Given the description of an element on the screen output the (x, y) to click on. 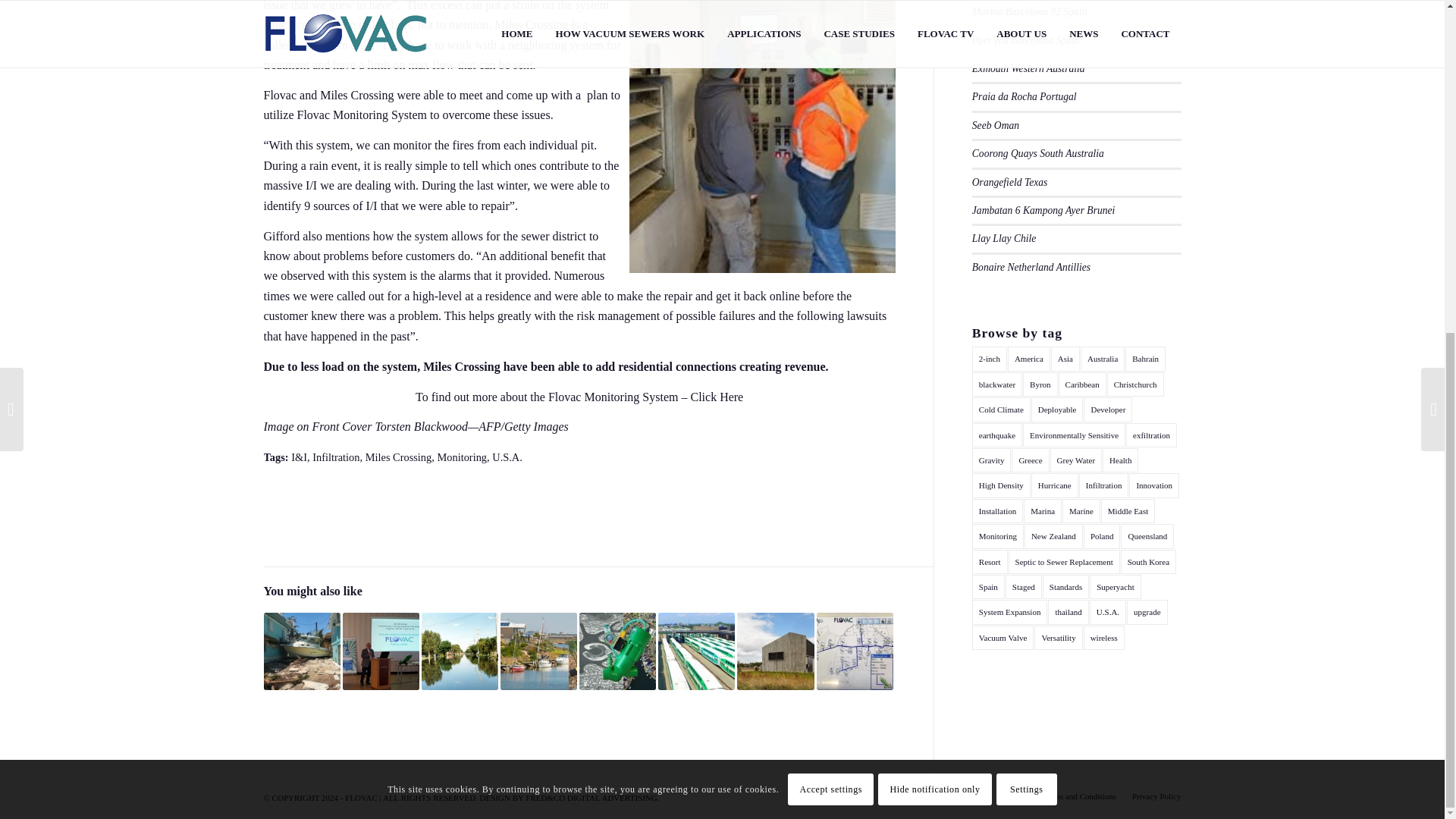
Key Largo using monitoring for hurricane preparedness (301, 650)
Miles Crossing (398, 457)
Water Supply and Sewerage in the 21st Century (380, 650)
Monitoring (461, 457)
U.S.A. (507, 457)
Infiltration (336, 457)
Flood Affected Sewer Systems (459, 650)
